Given the description of an element on the screen output the (x, y) to click on. 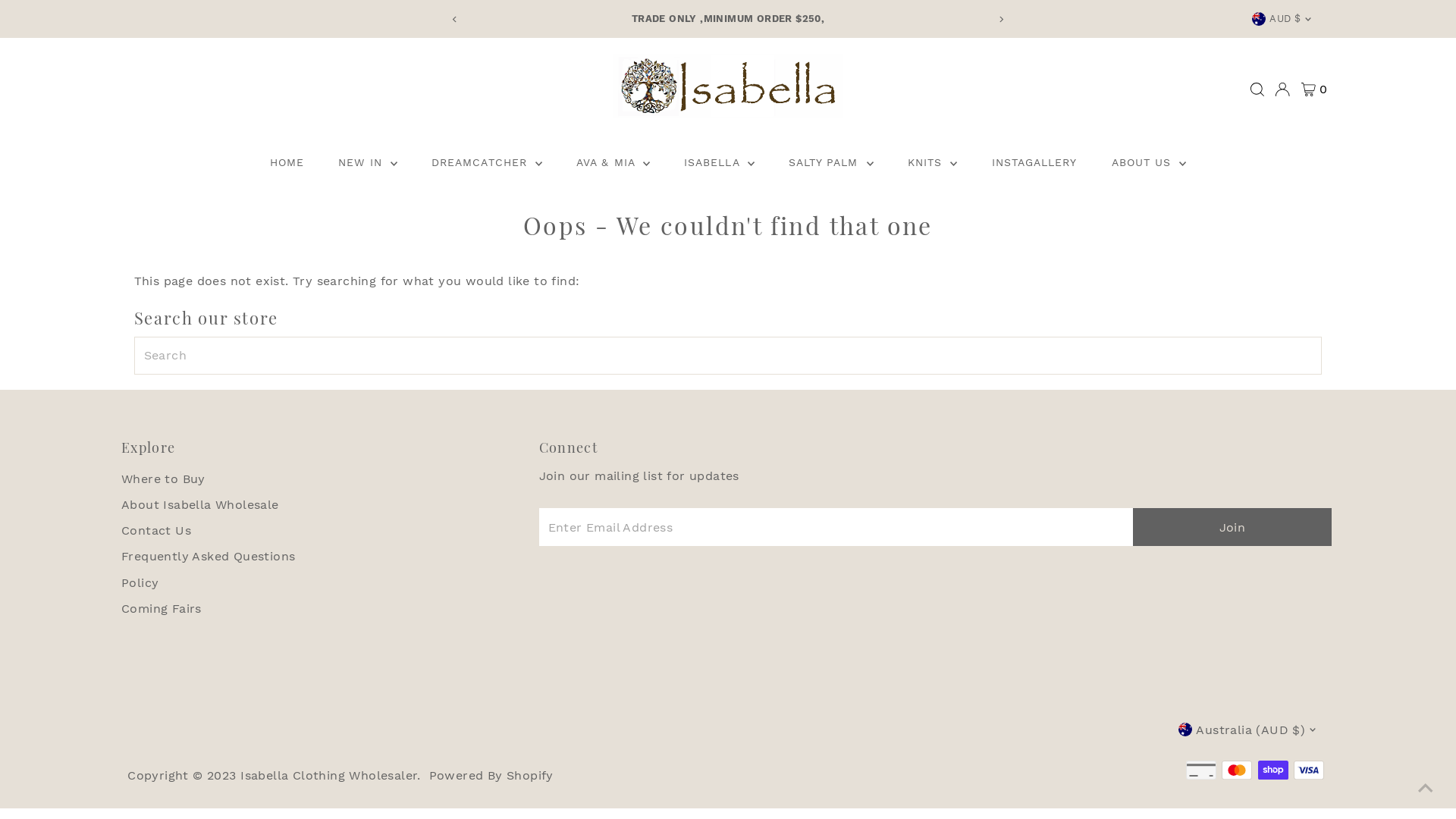
Contact Us Element type: text (156, 530)
Where to Buy Element type: text (163, 478)
Isabella Clothing Wholesaler Element type: text (328, 775)
Frequently Asked Questions Element type: text (207, 556)
0 Element type: text (1314, 89)
Join Element type: text (1231, 527)
Australia (AUD $) Element type: text (1248, 729)
About Isabella Wholesale Element type: text (200, 504)
INSTAGALLERY Element type: text (1034, 162)
Powered By Shopify Element type: text (491, 775)
HOME Element type: text (286, 162)
Policy Element type: text (139, 582)
Coming Fairs Element type: text (161, 608)
AUD $ Element type: text (1283, 18)
